Given the description of an element on the screen output the (x, y) to click on. 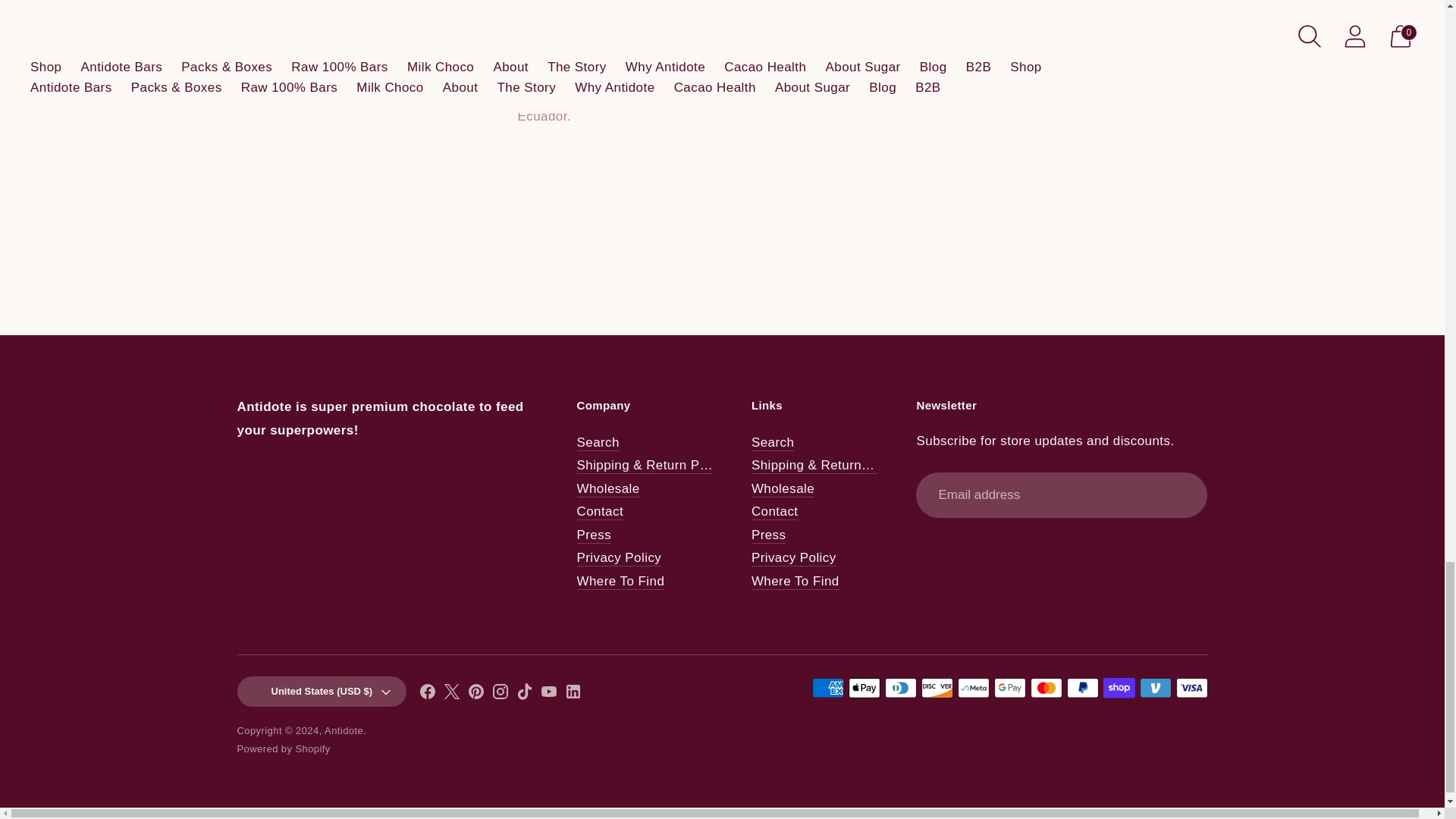
PayPal (1081, 687)
Diners Club (899, 687)
Meta Pay (972, 687)
Discover (936, 687)
Google Pay (1008, 687)
American Express (826, 687)
Apple Pay (863, 687)
Shop Pay (1118, 687)
Mastercard (1045, 687)
